Given the description of an element on the screen output the (x, y) to click on. 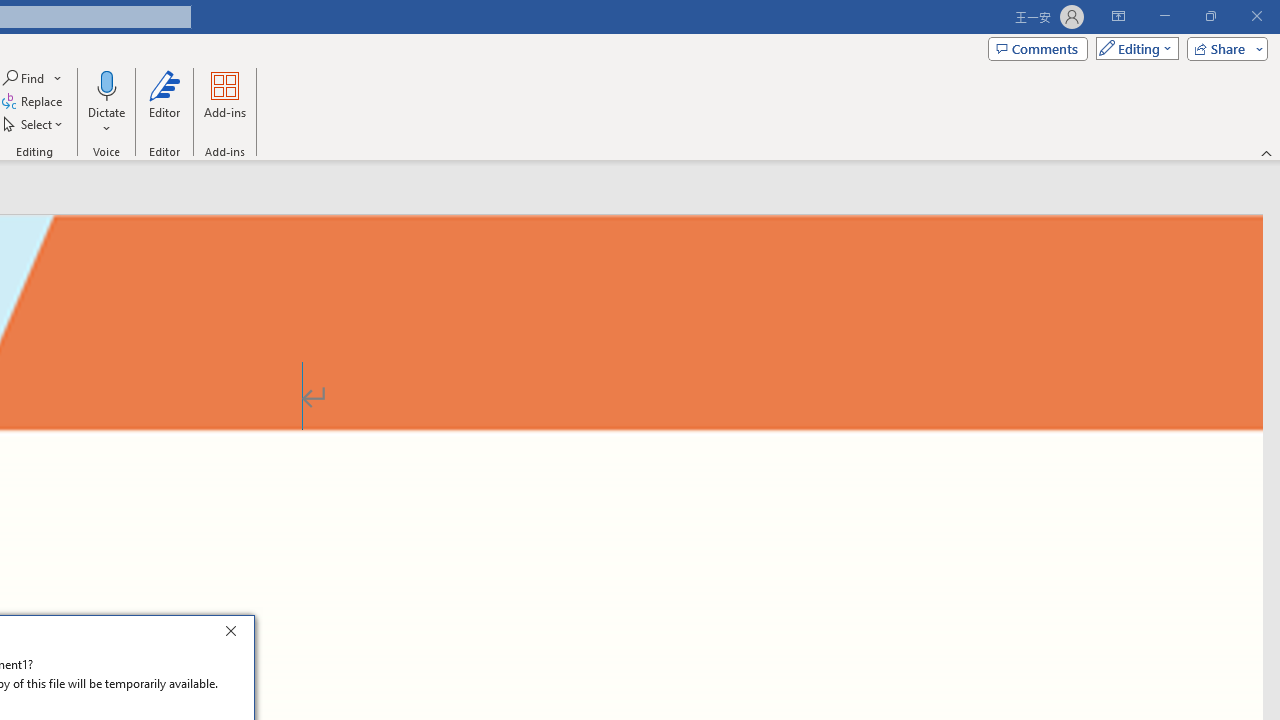
Mode (1133, 47)
